Given the description of an element on the screen output the (x, y) to click on. 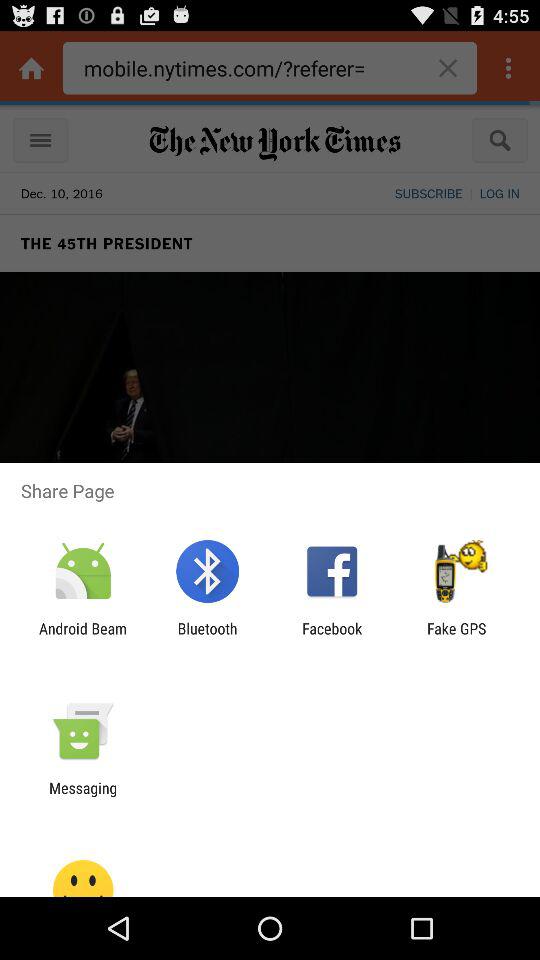
press the android beam icon (83, 637)
